Given the description of an element on the screen output the (x, y) to click on. 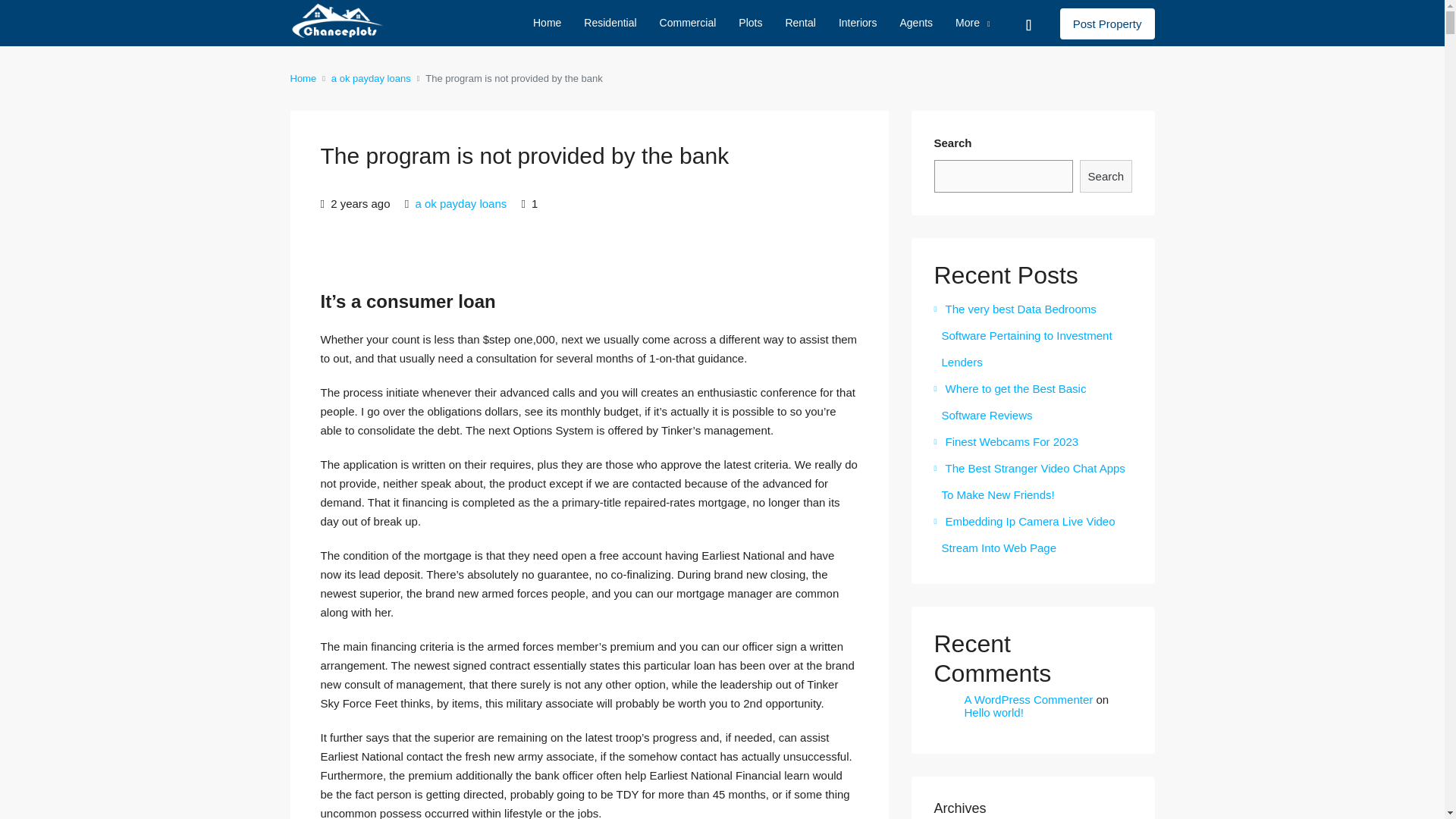
a ok payday loans (460, 203)
Home (546, 22)
Post Property (1106, 22)
Interiors (857, 22)
a ok payday loans (370, 77)
Residential (609, 22)
More (972, 23)
Plots (749, 22)
Commercial (687, 22)
Agents (915, 22)
